Given the description of an element on the screen output the (x, y) to click on. 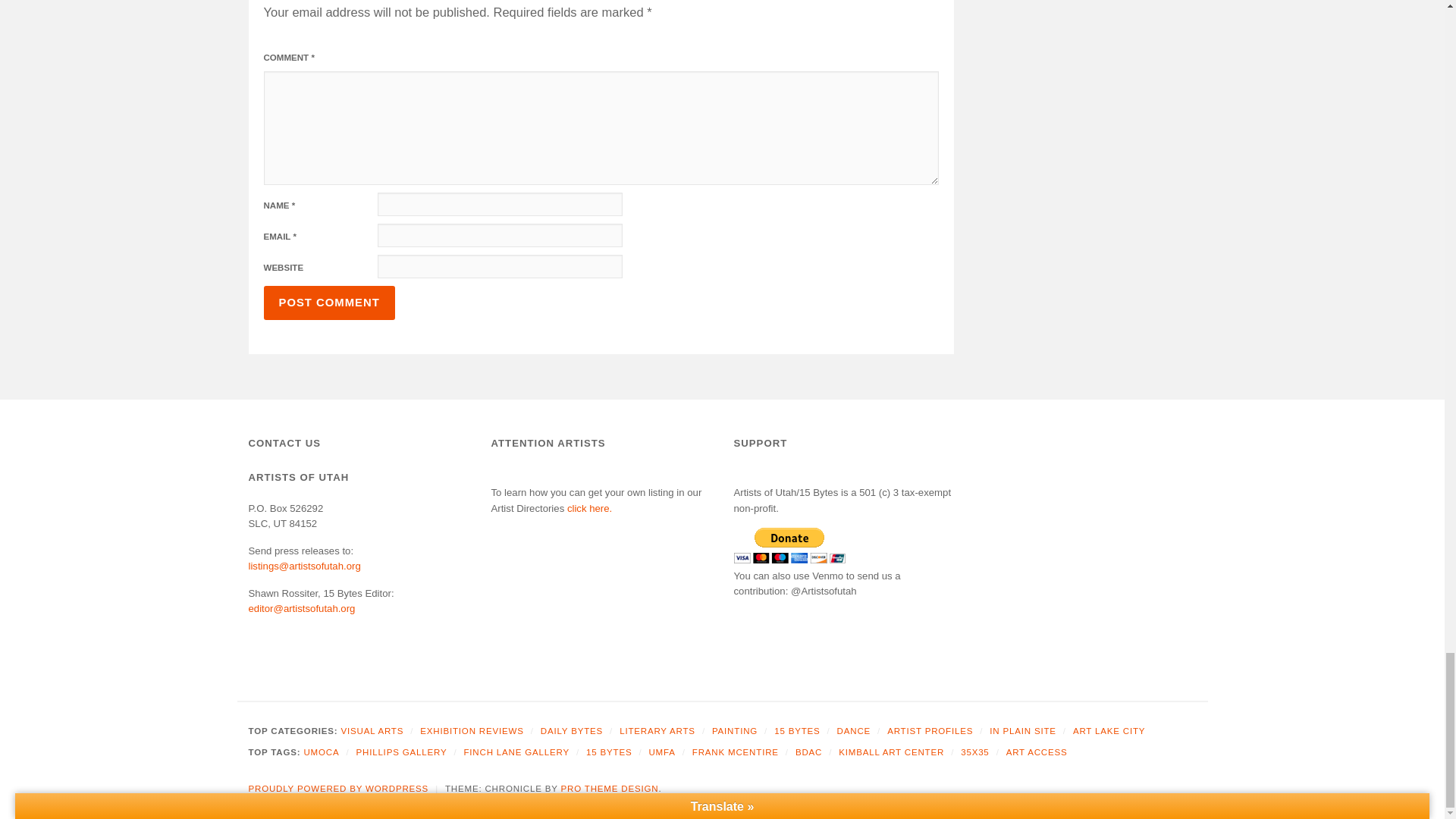
Post Comment (328, 302)
A Semantic Personal Publishing Platform (338, 788)
